Given the description of an element on the screen output the (x, y) to click on. 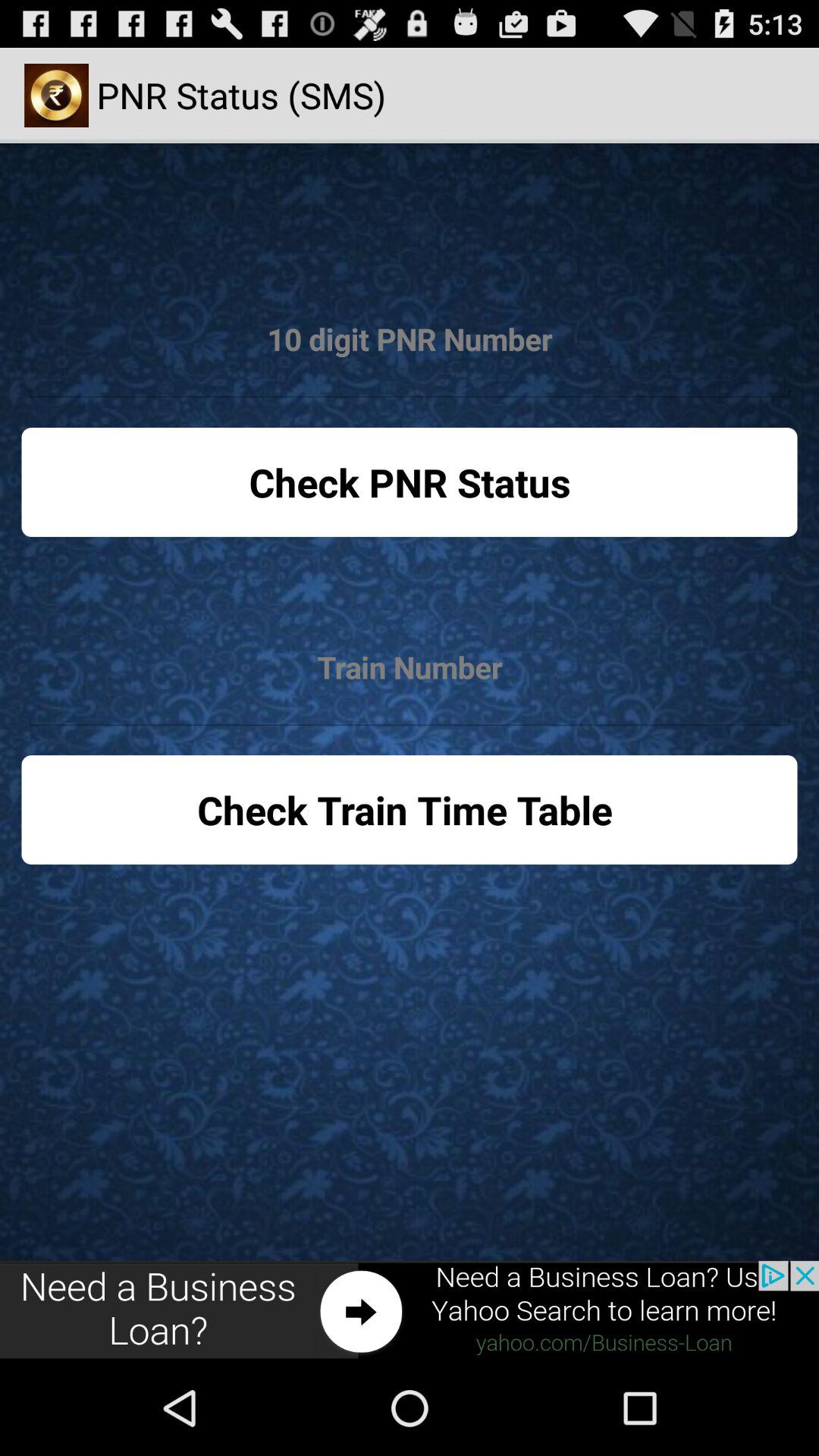
enter train number (409, 667)
